Given the description of an element on the screen output the (x, y) to click on. 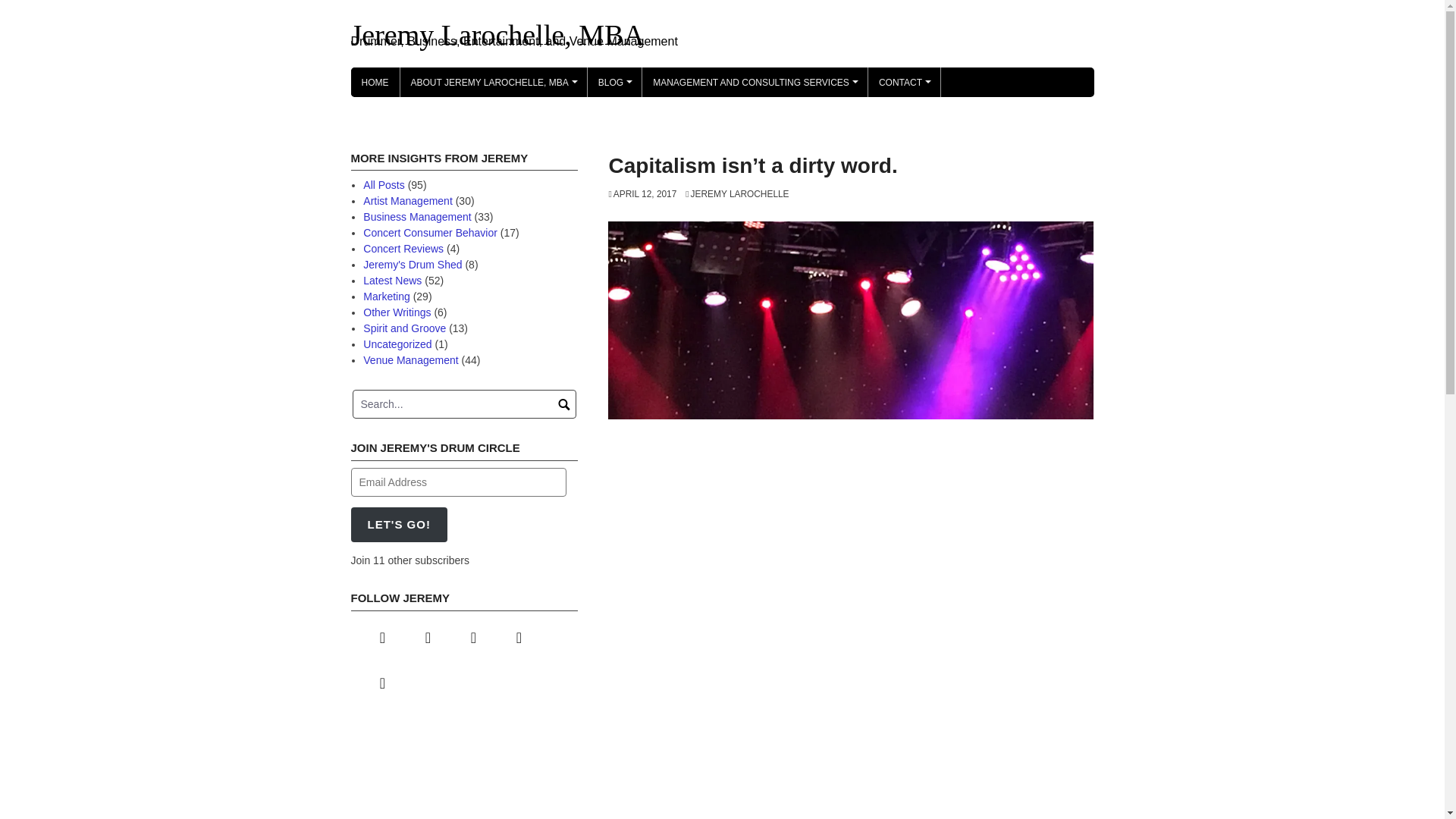
APRIL 12, 2017 (642, 194)
HOME (374, 82)
JEREMY LAROCHELLE (737, 194)
Search for: (464, 403)
Jeremy Larochelle, MBA (496, 34)
